Given the description of an element on the screen output the (x, y) to click on. 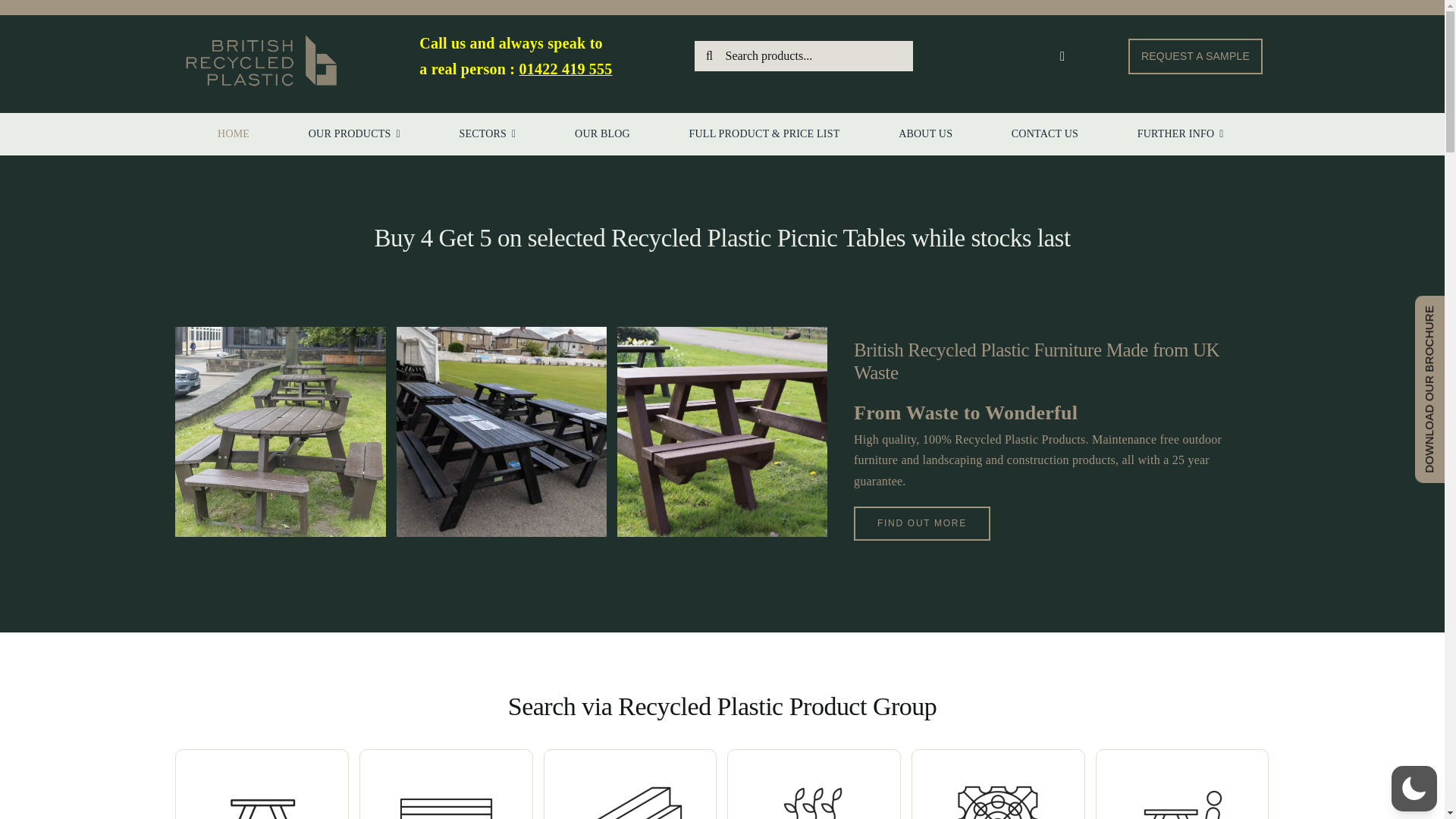
OUR PRODUCTS (354, 134)
Home 1 (260, 60)
REQUEST A SAMPLE (1195, 56)
01422 419 555 (564, 68)
